Given the description of an element on the screen output the (x, y) to click on. 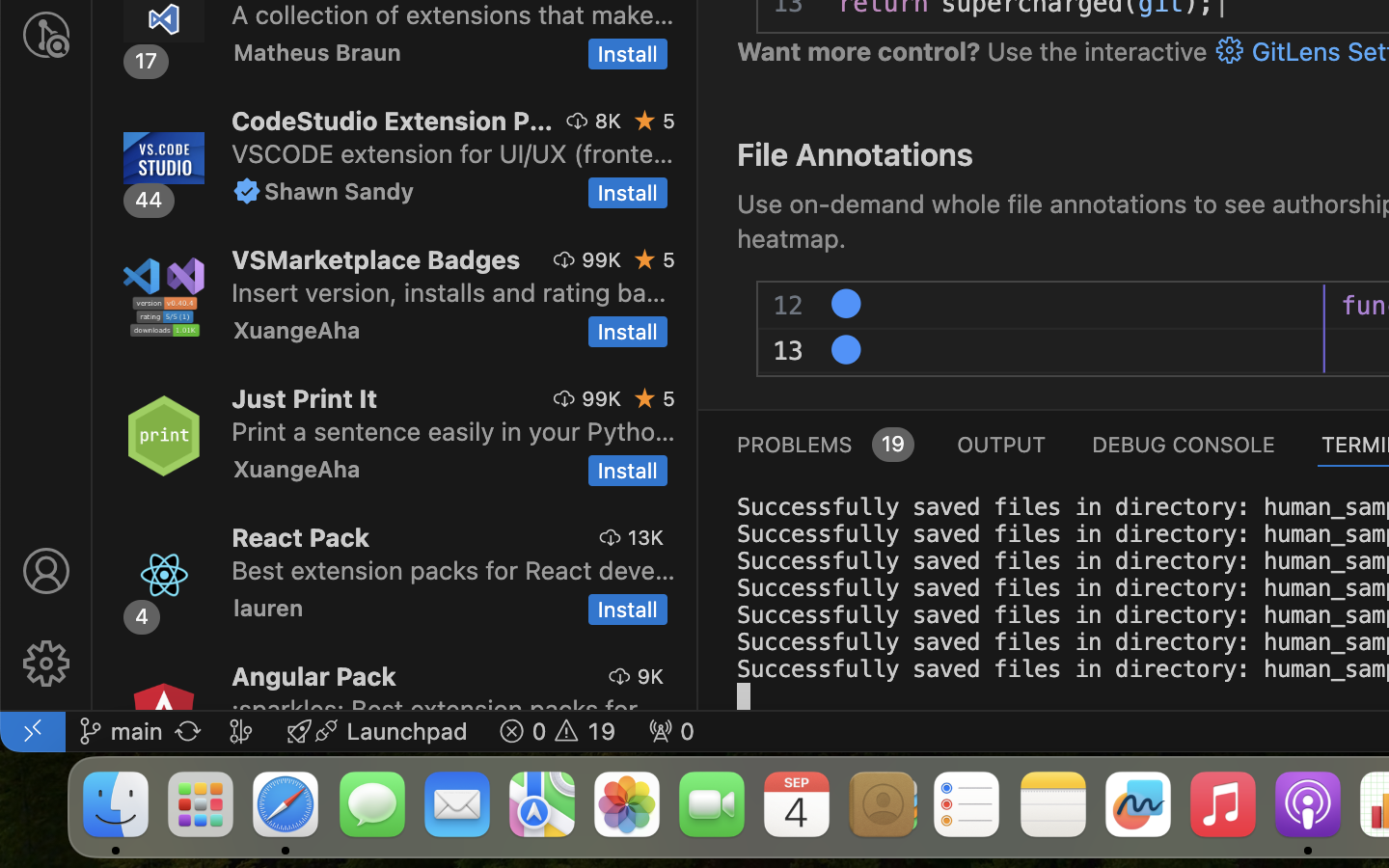
 Element type: AXStaticText (563, 258)
17 Element type: AXStaticText (146, 60)
main  Element type: AXButton (120, 730)
0 OUTPUT Element type: AXRadioButton (1001, 443)
Use the interactive Element type: AXStaticText (1097, 51)
